Given the description of an element on the screen output the (x, y) to click on. 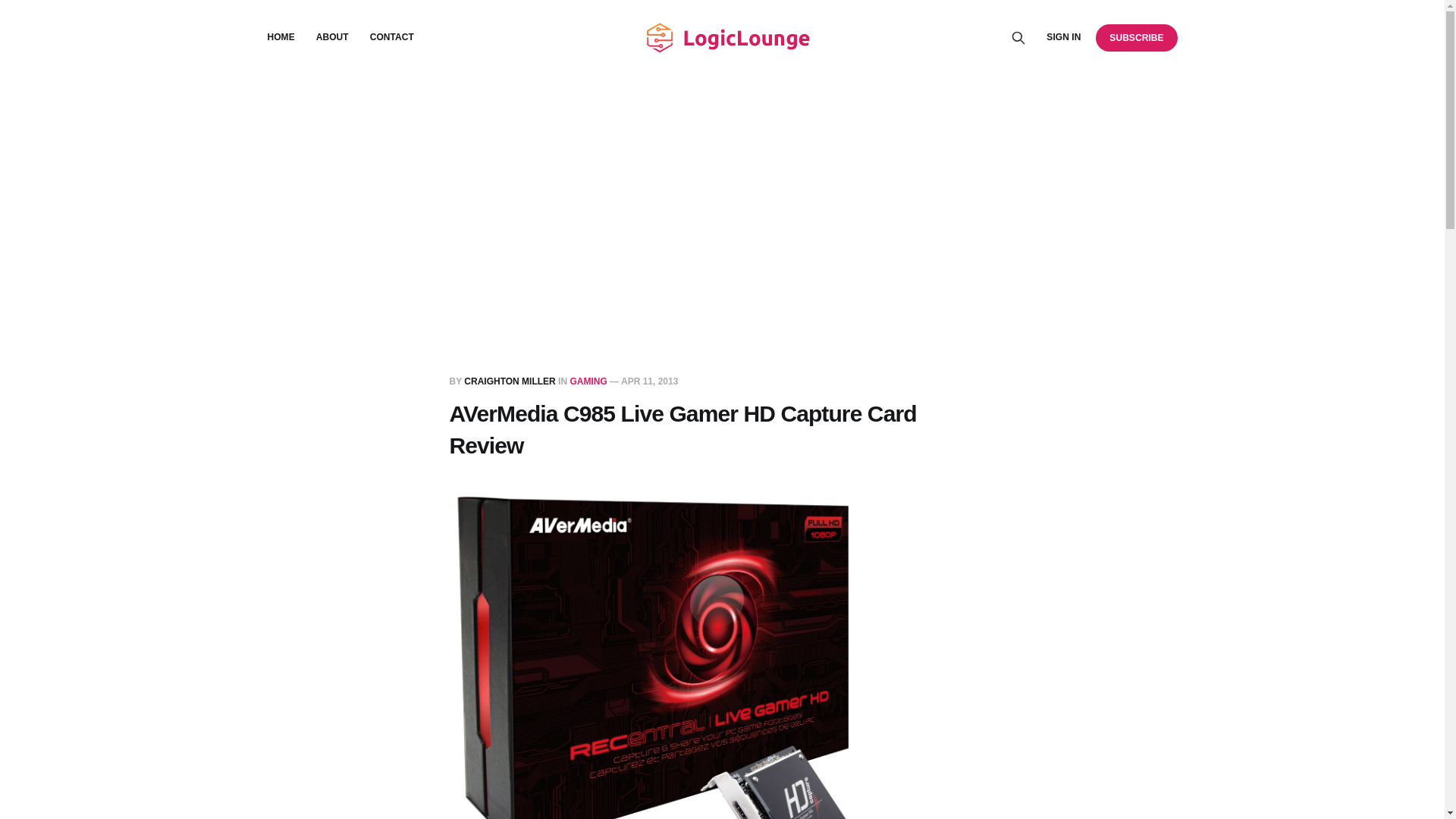
HOME (280, 36)
GAMING (588, 380)
SUBSCRIBE (1136, 37)
ABOUT (332, 36)
SIGN IN (1063, 37)
CONTACT (391, 36)
CRAIGHTON MILLER (509, 380)
